Given the description of an element on the screen output the (x, y) to click on. 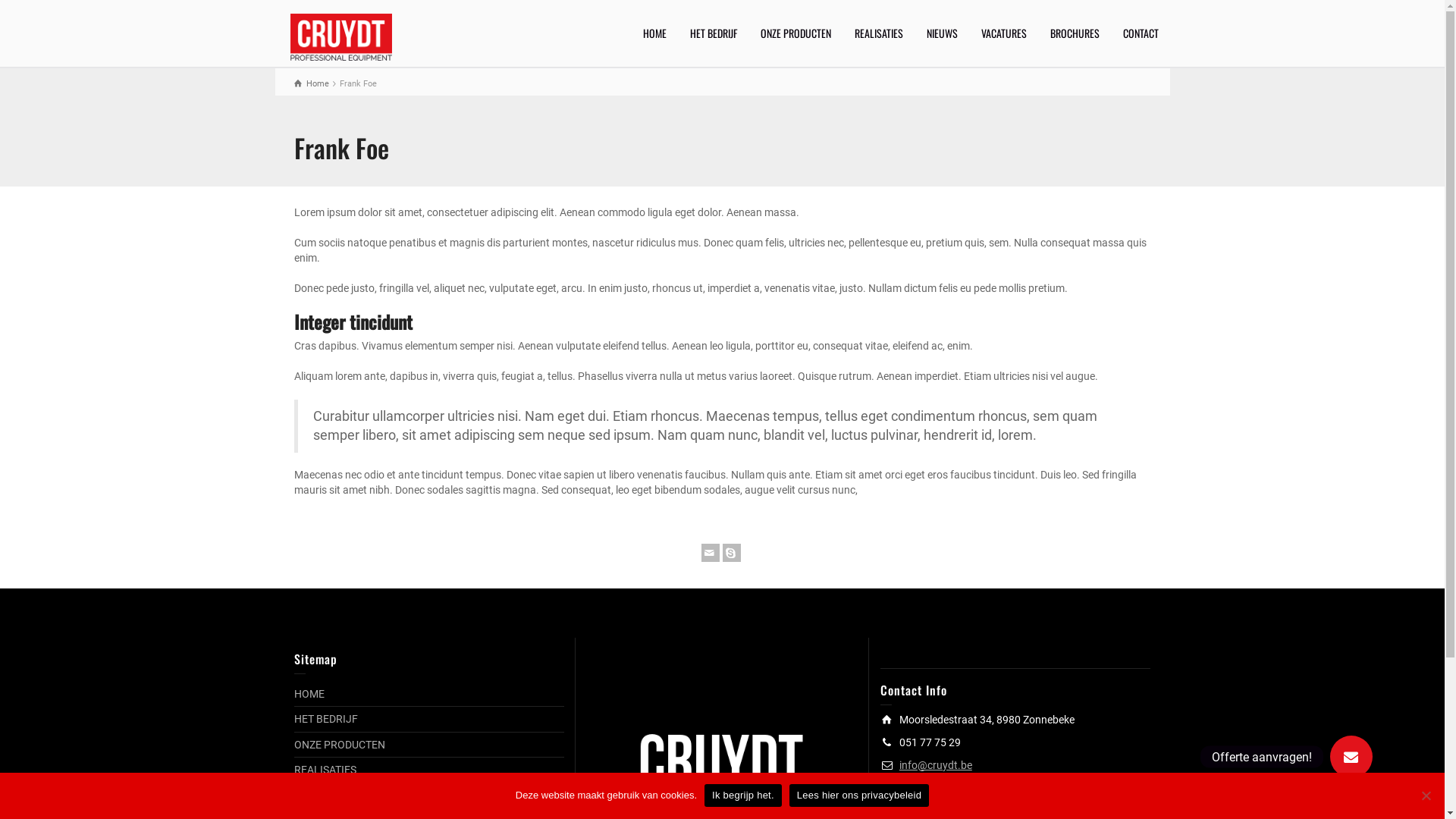
No Element type: hover (1425, 795)
ONZE PRODUCTEN Element type: text (339, 744)
REALISATIES Element type: text (879, 33)
REALISATIES Element type: text (325, 769)
Cruydt - Professional Equipment Element type: hover (340, 36)
ONZE PRODUCTEN Element type: text (796, 33)
HET BEDRIJF Element type: text (325, 718)
Skype Element type: hover (730, 552)
info@cruydt.be Element type: text (935, 765)
HOME Element type: text (653, 33)
Email Element type: hover (709, 552)
NIEUWS Element type: text (941, 33)
Offerte aanvragen! Element type: text (1351, 756)
HET BEDRIJF Element type: text (712, 33)
NIEUWS Element type: text (313, 794)
CONTACT Element type: text (1140, 33)
Ik begrijp het. Element type: text (742, 795)
BROCHURES Element type: text (1074, 33)
Lees hier ons privacybeleid Element type: text (858, 795)
Home Element type: text (311, 83)
HOME Element type: text (309, 693)
VACATURES Element type: text (1003, 33)
